Given the description of an element on the screen output the (x, y) to click on. 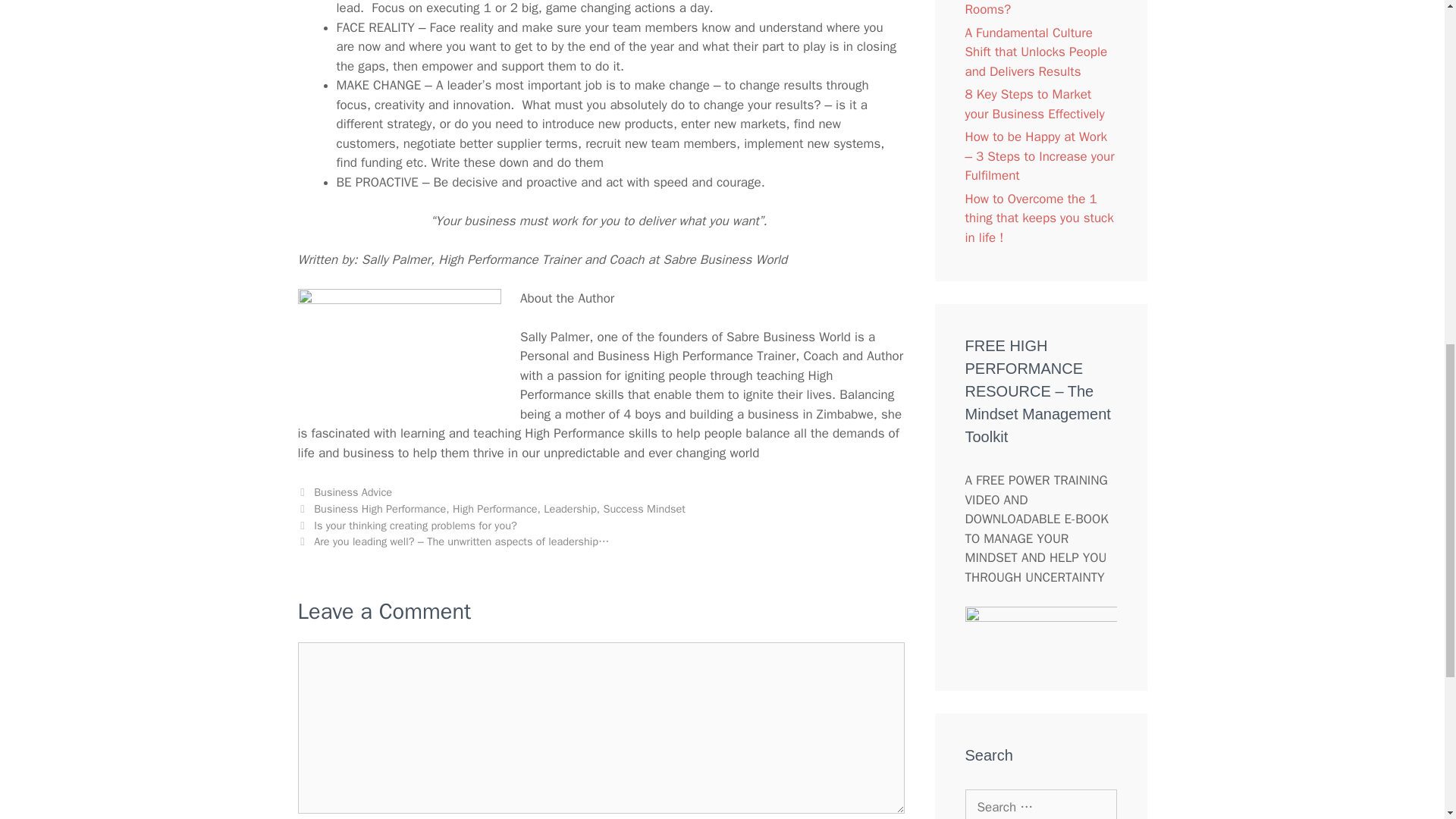
Business High Performance (379, 508)
Leadership (569, 508)
Success Mindset (643, 508)
Search for: (1039, 804)
High Performance (494, 508)
Is your thinking creating problems for you? (415, 525)
Scroll back to top (1406, 720)
Business Advice (352, 491)
